Given the description of an element on the screen output the (x, y) to click on. 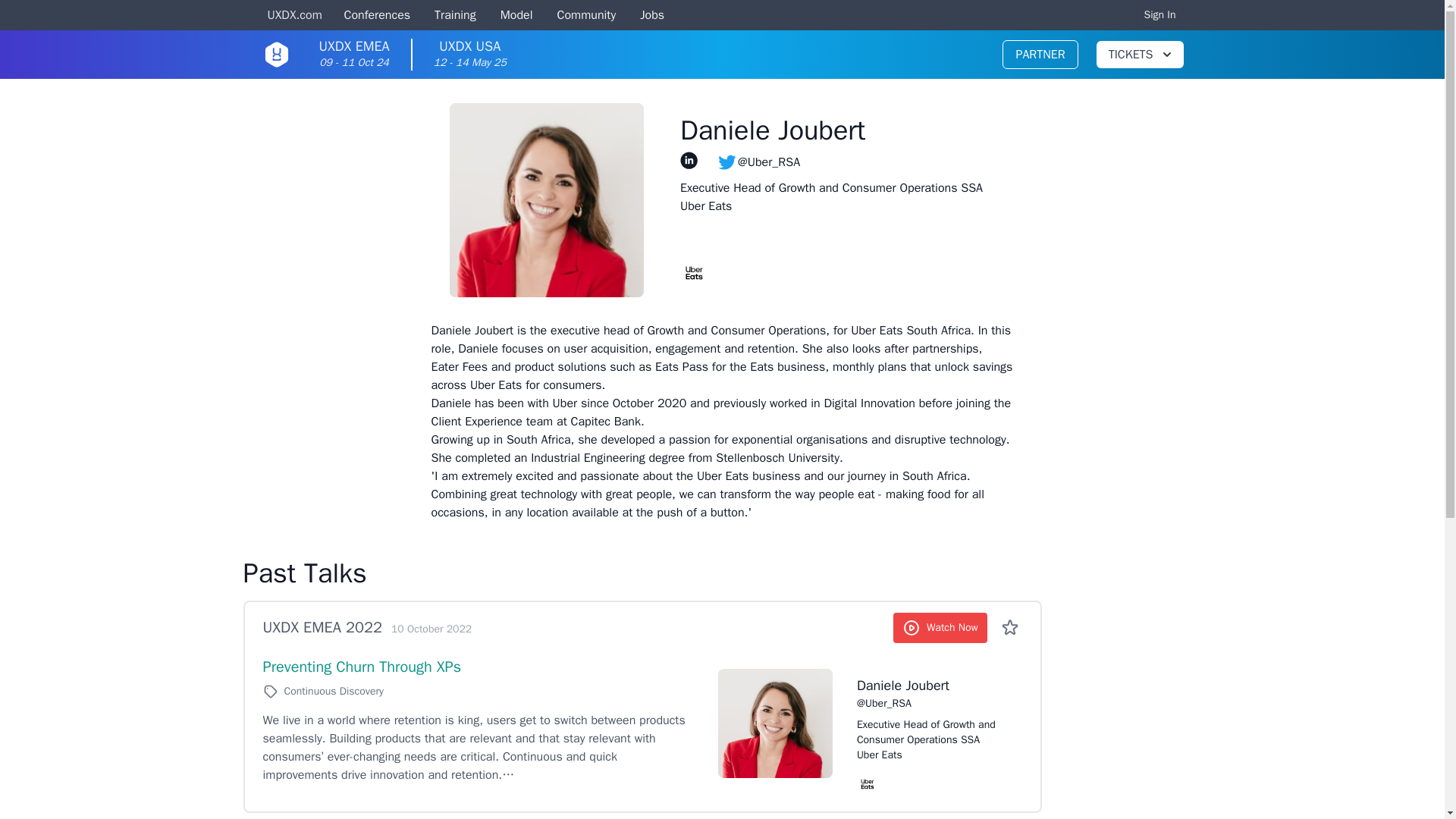
Sign In (1160, 14)
UXDX EMEA 2022 (352, 54)
Community (321, 627)
PARTNER (470, 54)
 Conferences (586, 16)
Training (1040, 54)
TICKETS (375, 16)
Jobs (454, 16)
UXDX.com (1139, 53)
Daniele Joubert (651, 16)
Preventing Churn Through XPs (293, 16)
Model (930, 685)
Watch Now (361, 666)
